Given the description of an element on the screen output the (x, y) to click on. 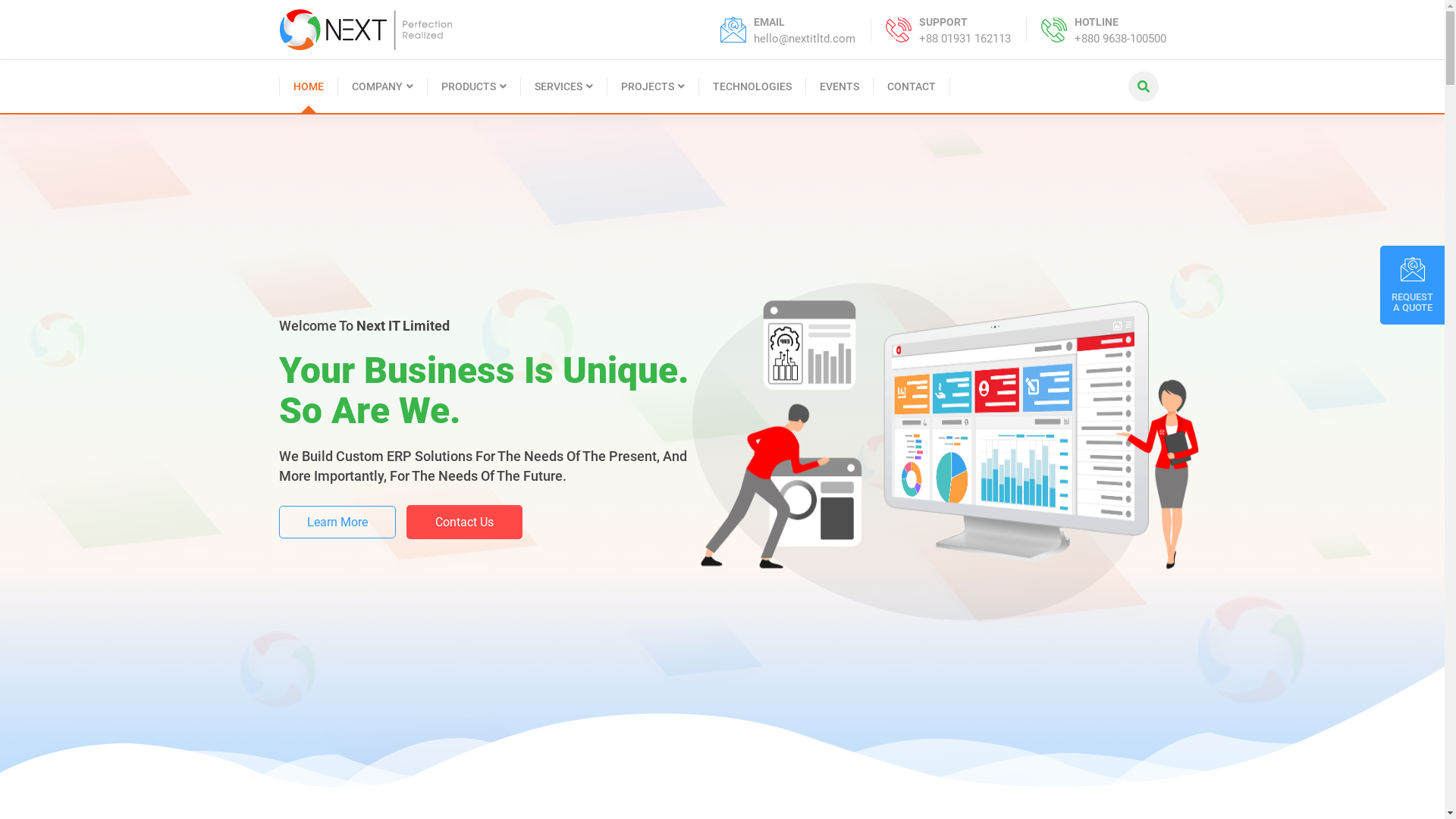
EVENTS Element type: text (838, 86)
PRODUCTS Element type: text (473, 86)
Learn More Element type: text (337, 546)
SERVICES Element type: text (563, 86)
CONTACT Element type: text (911, 86)
COMPANY Element type: text (382, 86)
PROJECTS Element type: text (652, 86)
Contact Us Element type: text (464, 547)
HOME Element type: text (308, 86)
TECHNOLOGIES Element type: text (752, 86)
REQUEST
A QUOTE Element type: text (1412, 284)
